Given the description of an element on the screen output the (x, y) to click on. 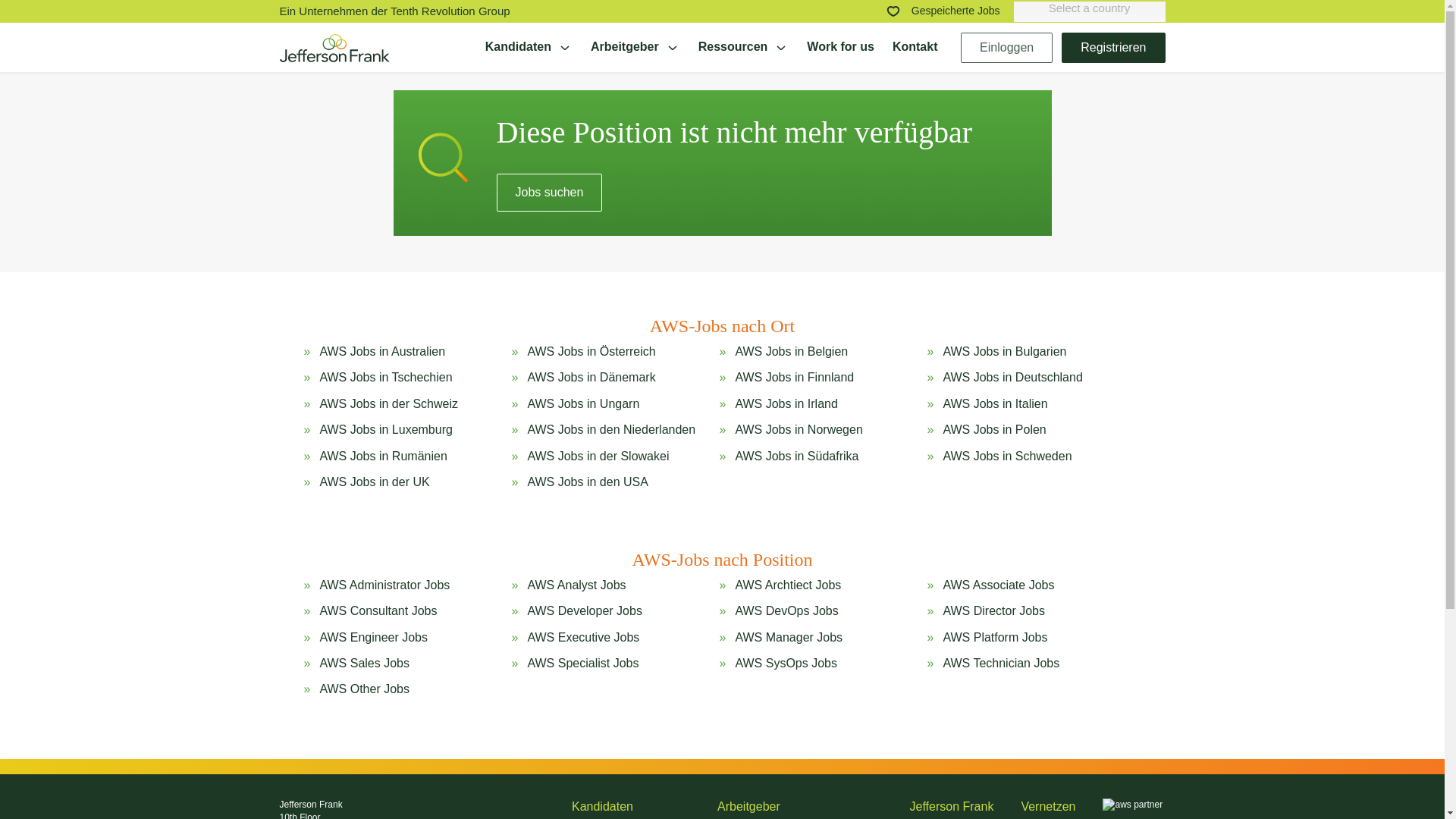
Arbeitgeber (635, 47)
AWS Jobs in Australien (381, 351)
Gespeicherte Jobs (941, 11)
AWS Jobs in Bulgarien (1003, 351)
Ressourcen (743, 47)
Registrieren (1112, 46)
Kandidaten (528, 47)
Kontakt (914, 47)
AWS Jobs in Italien (994, 403)
AWS Jobs in Ungarn (583, 403)
